Given the description of an element on the screen output the (x, y) to click on. 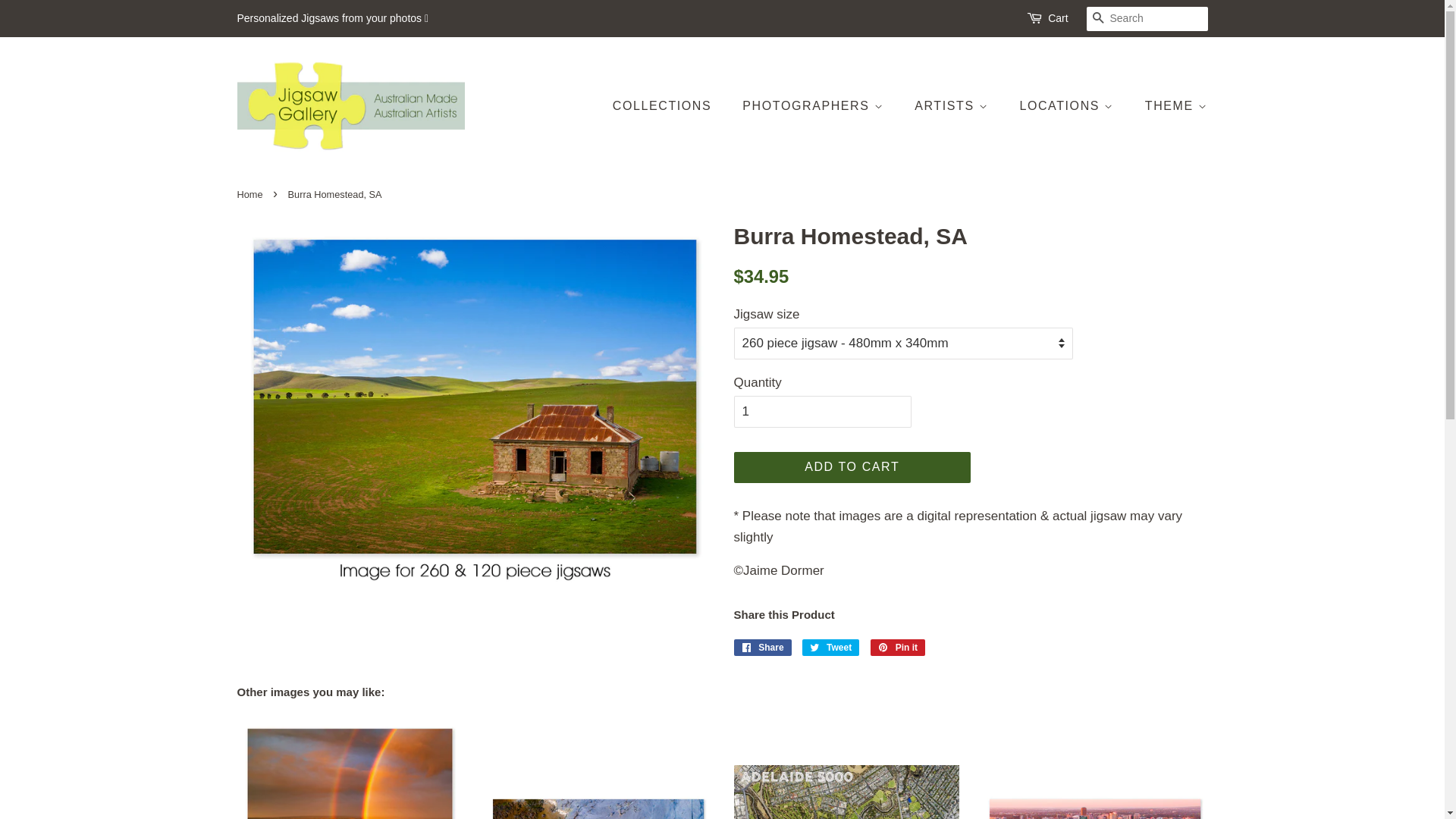
ARTISTS Element type: text (953, 105)
Share
Share on Facebook Element type: text (762, 647)
COLLECTIONS Element type: text (669, 105)
Cart Element type: text (1057, 18)
PHOTOGRAPHERS Element type: text (814, 105)
ADD TO CART Element type: text (852, 467)
Tweet
Tweet on Twitter Element type: text (830, 647)
Pin it
Pin on Pinterest Element type: text (897, 647)
Home Element type: text (251, 194)
SEARCH Element type: text (1097, 18)
LOCATIONS Element type: text (1067, 105)
THEME Element type: text (1170, 105)
